Given the description of an element on the screen output the (x, y) to click on. 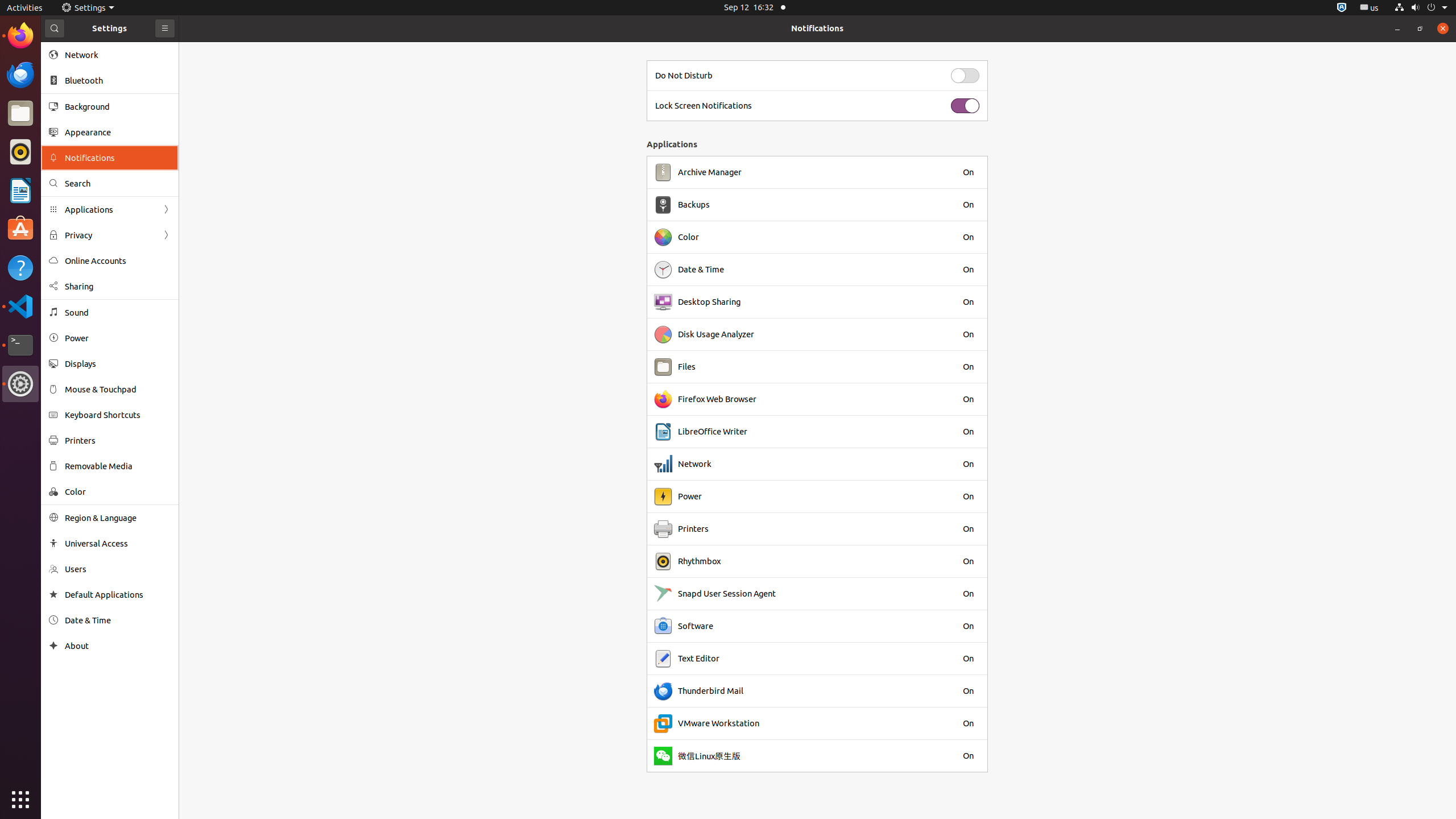
Search Element type: label (117, 183)
Settings Element type: push-button (20, 383)
Mouse & Touchpad Element type: label (117, 389)
Date & Time Element type: label (117, 620)
Disk Usage Analyzer Element type: label (715, 334)
